Given the description of an element on the screen output the (x, y) to click on. 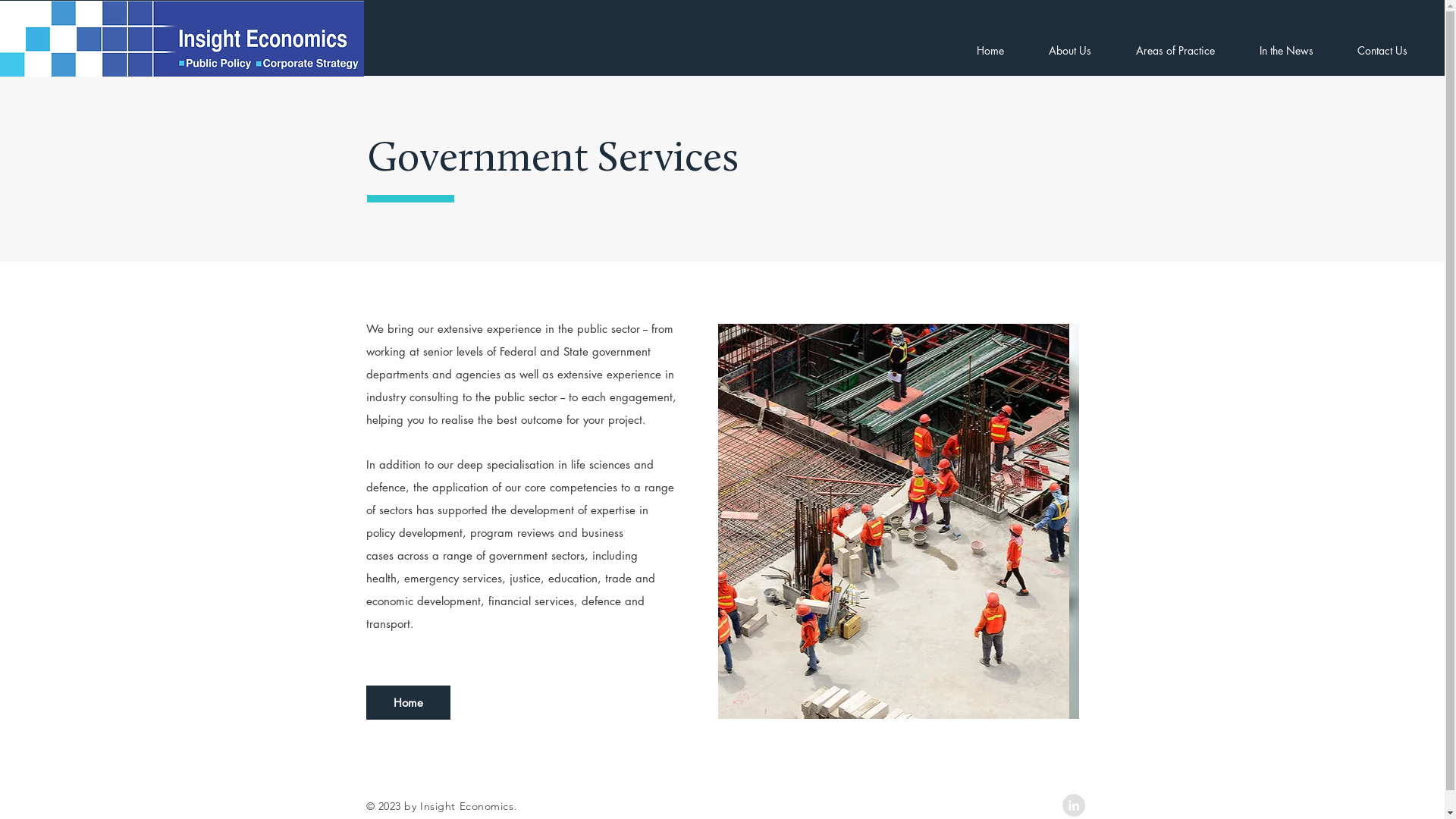
Areas of Practice Element type: text (1174, 50)
Home Element type: text (989, 50)
About Us Element type: text (1069, 50)
In the News Element type: text (1285, 50)
Home Element type: text (407, 702)
Contact Us Element type: text (1382, 50)
